Given the description of an element on the screen output the (x, y) to click on. 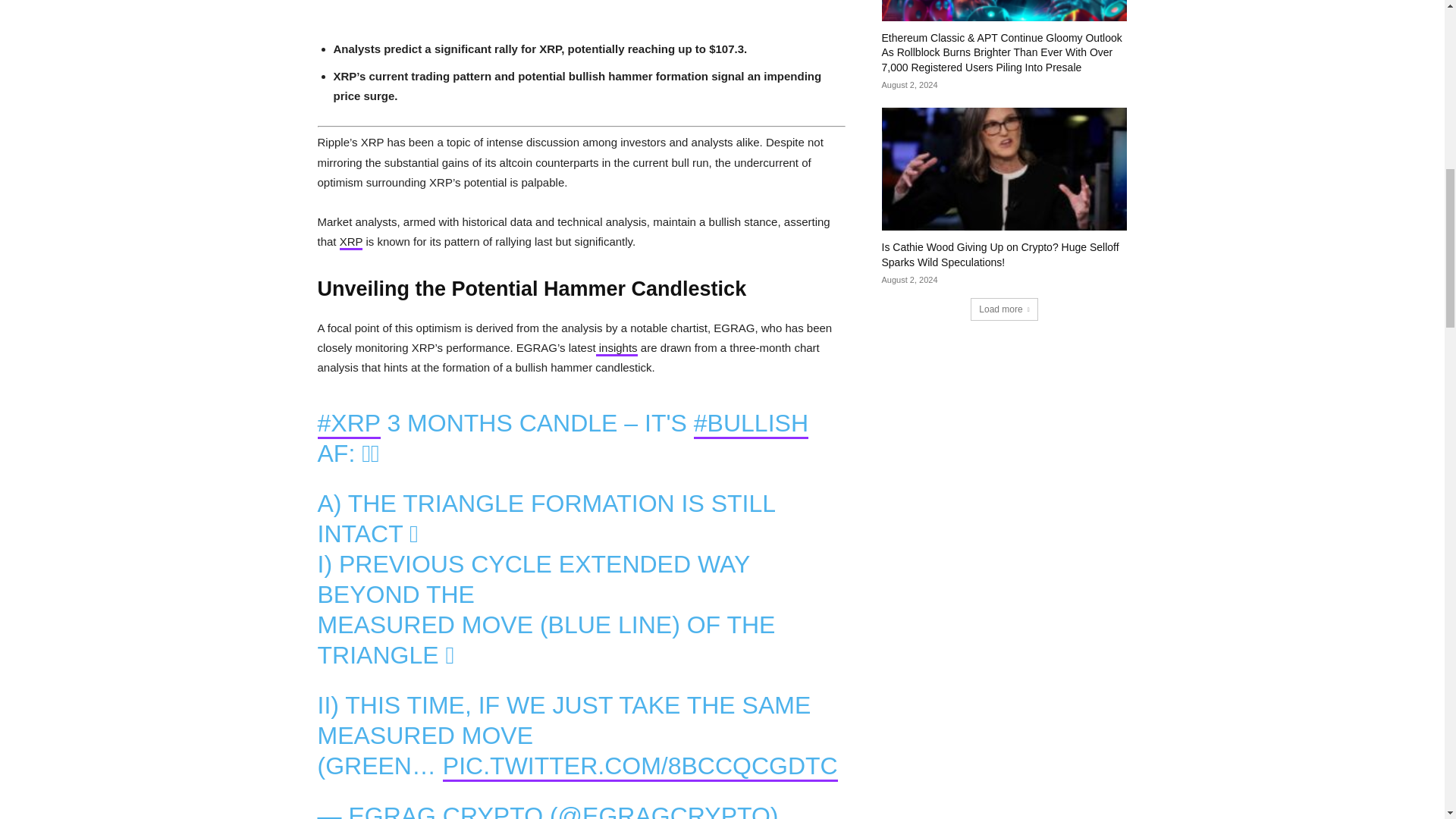
insights (616, 348)
XRP (350, 242)
